Given the description of an element on the screen output the (x, y) to click on. 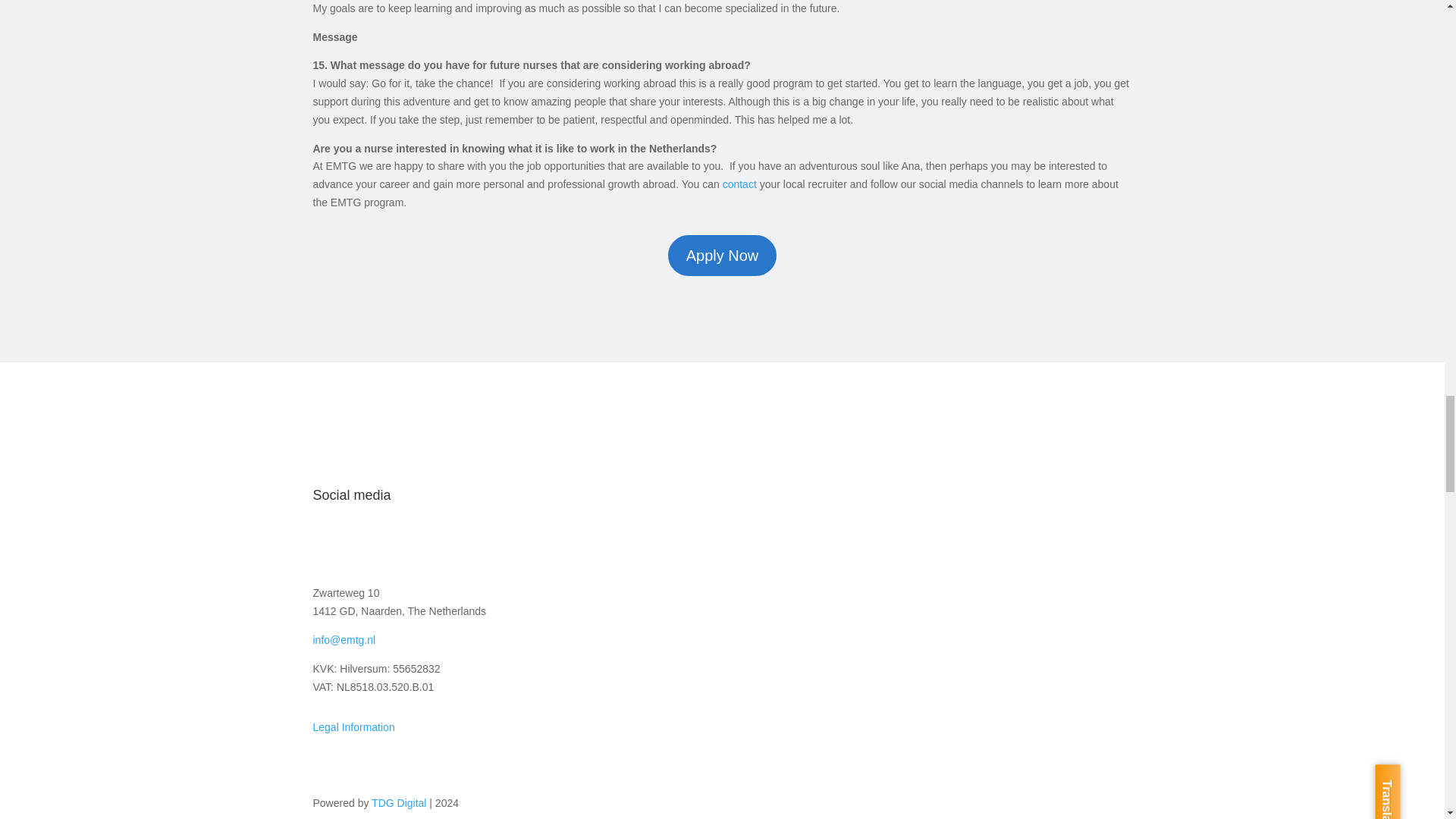
Volg op TikTok (445, 544)
Apply Now (722, 255)
Volg op Facebook (324, 544)
TDG Digital (398, 802)
Volg op Youtube (415, 544)
Volg op Instagram (354, 544)
Volg op LinkedIn (384, 544)
Legal Information (353, 727)
contact (739, 184)
